Given the description of an element on the screen output the (x, y) to click on. 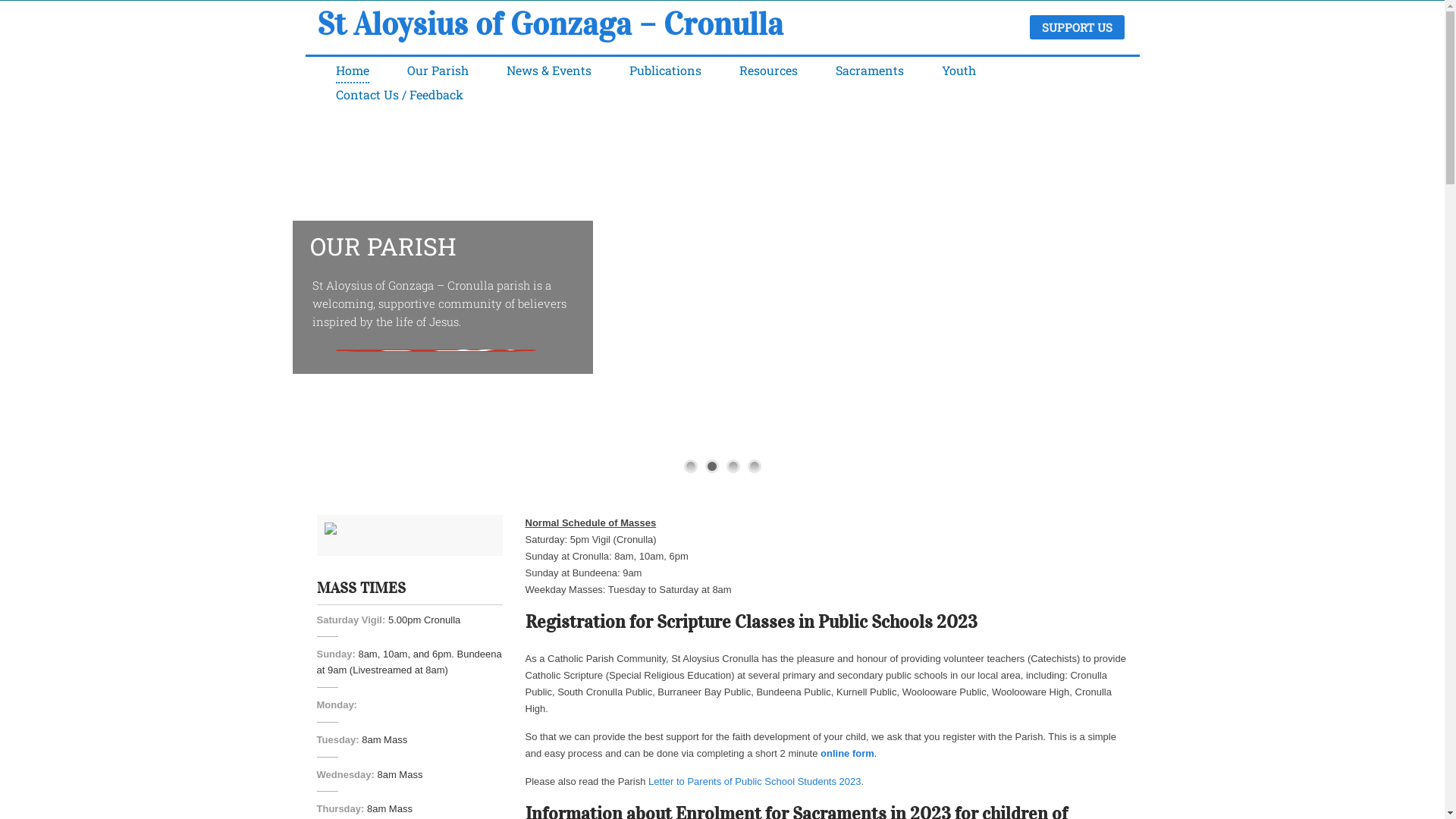
Publications Element type: text (665, 70)
Resources Element type: text (767, 70)
Contact Us / Feedback Element type: text (398, 94)
Letter to Parents of Public School Students 2023 Element type: text (754, 781)
online form Element type: text (847, 753)
Home Element type: text (351, 70)
Our Parish Element type: text (436, 70)
Youth Element type: text (958, 70)
News & Events Element type: text (548, 70)
SUPPORT US Element type: text (1076, 27)
Sacraments Element type: text (869, 70)
